Given the description of an element on the screen output the (x, y) to click on. 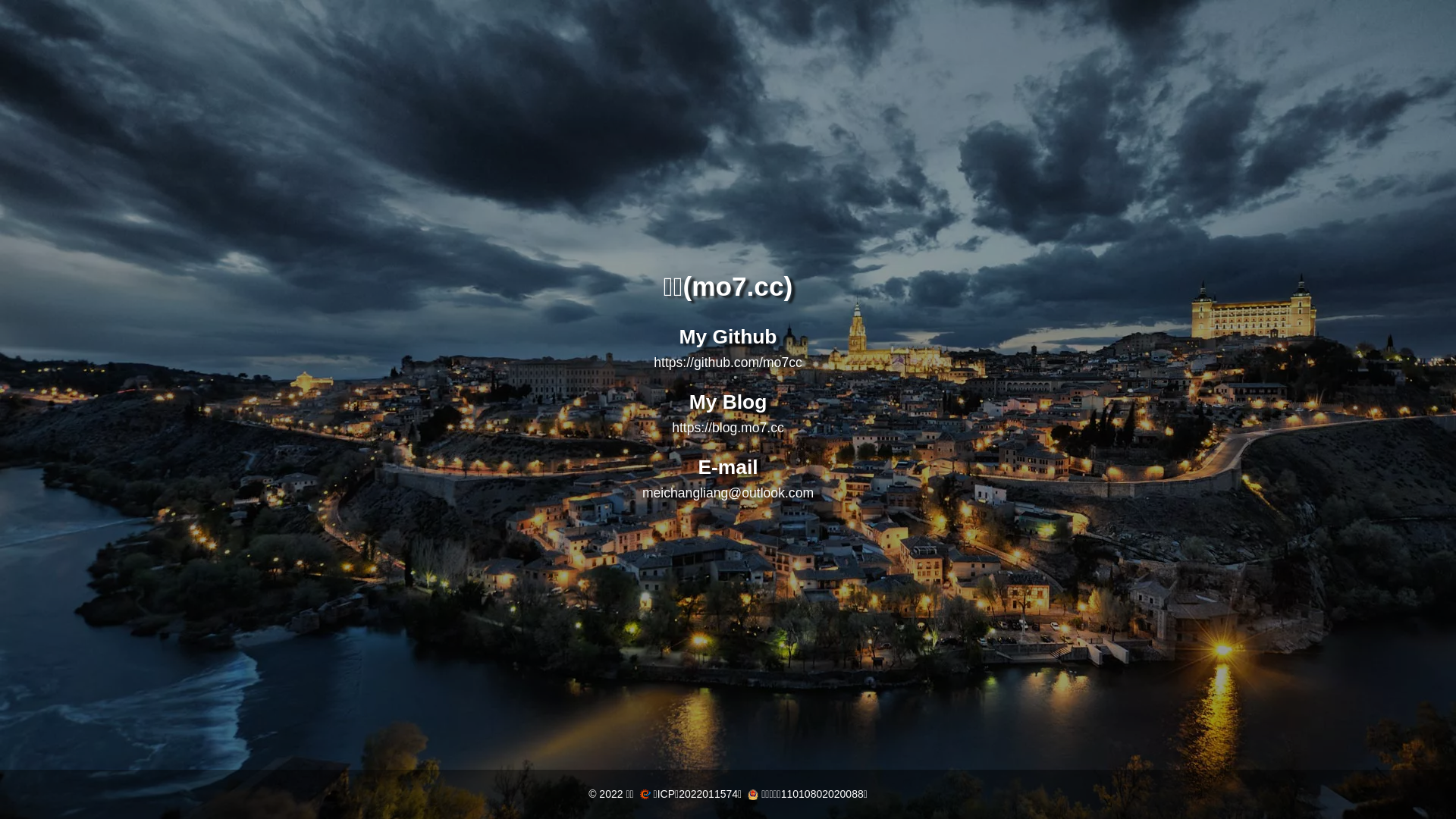
E-mail
meichangliang@outlook.com Element type: text (727, 477)
My Github
https://github.com/mo7cc Element type: text (727, 346)
My Blog
https://blog.mo7.cc Element type: text (727, 412)
